Given the description of an element on the screen output the (x, y) to click on. 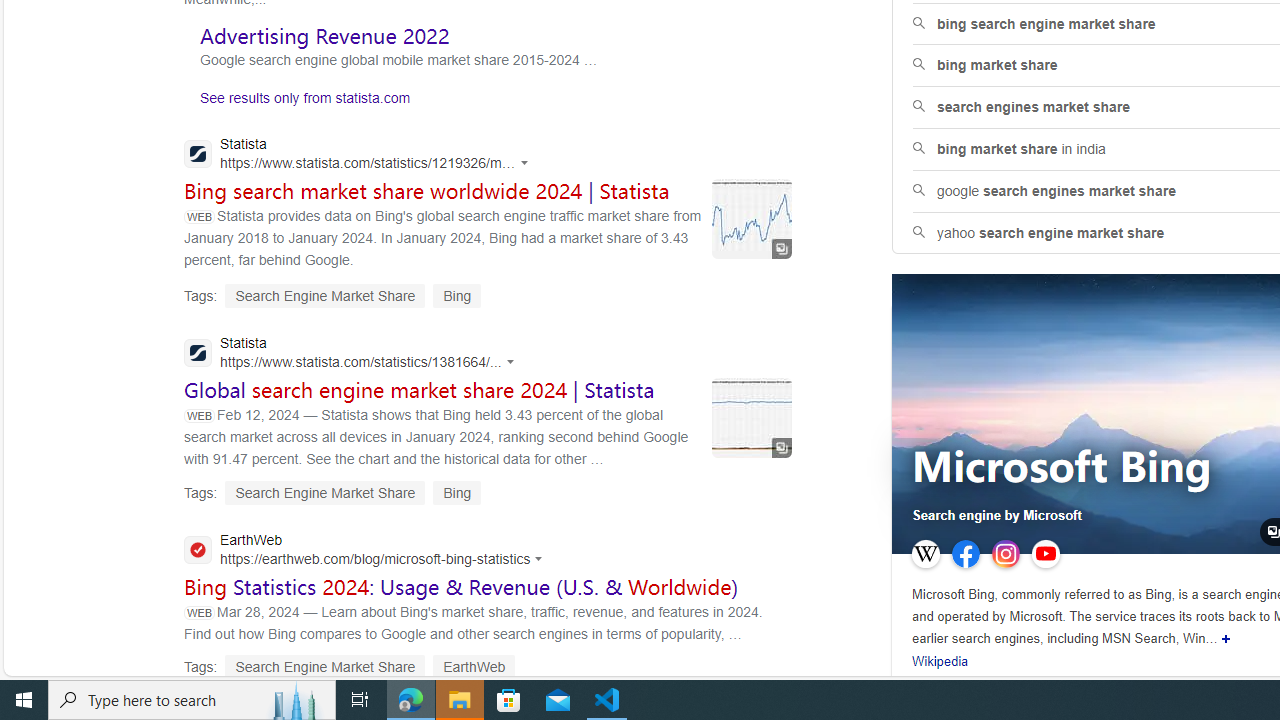
Tags: Search Engine Market Share EarthWeb (349, 666)
Statista (354, 354)
EarthWeb (369, 552)
Wikipedia (939, 661)
